Given the description of an element on the screen output the (x, y) to click on. 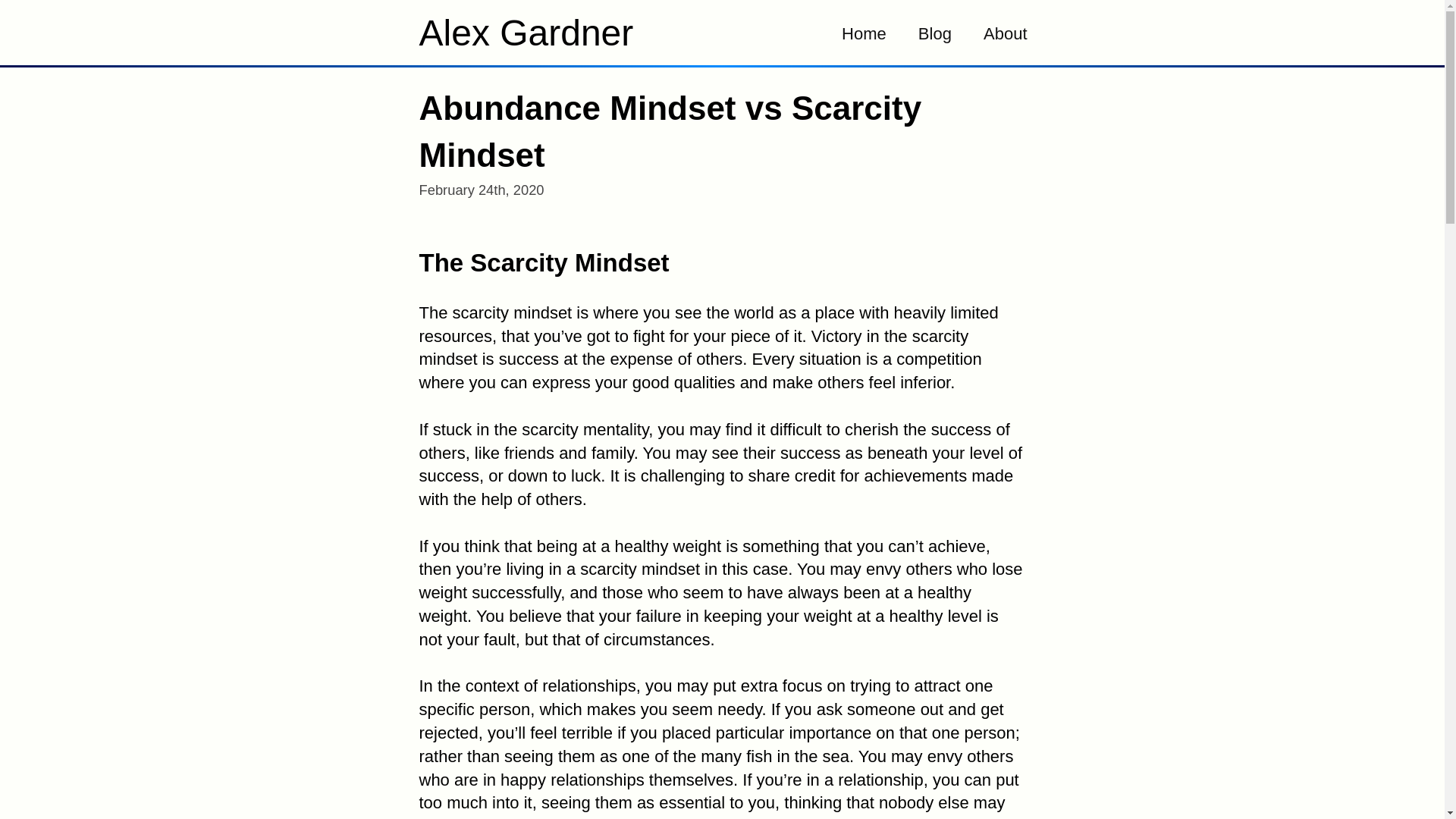
About (1004, 31)
Alex Gardner (526, 39)
Blog (935, 31)
Home (863, 31)
